Given the description of an element on the screen output the (x, y) to click on. 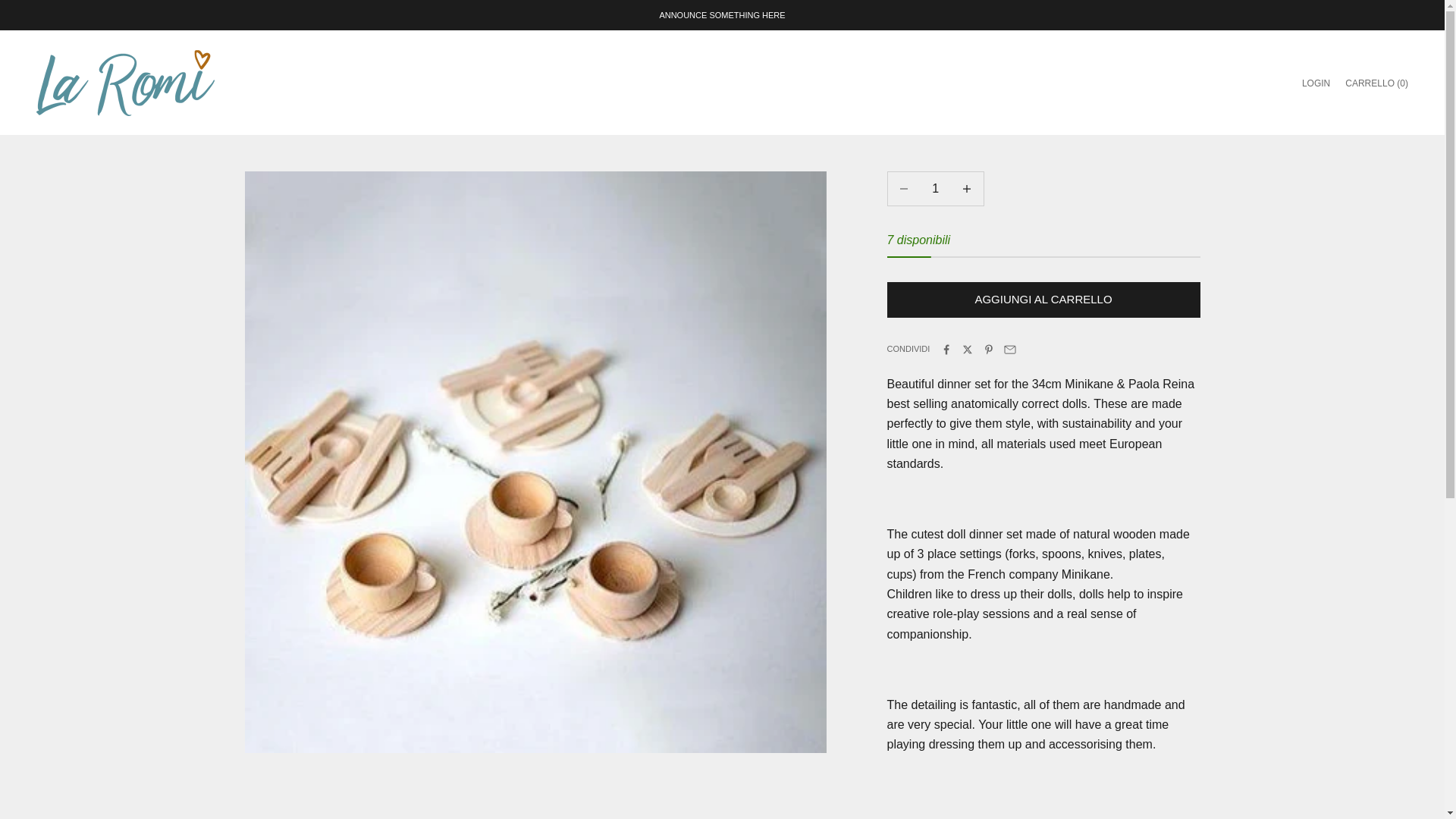
1 (935, 187)
AGGIUNGI AL CARRELLO (1042, 299)
La Romi (125, 82)
